Given the description of an element on the screen output the (x, y) to click on. 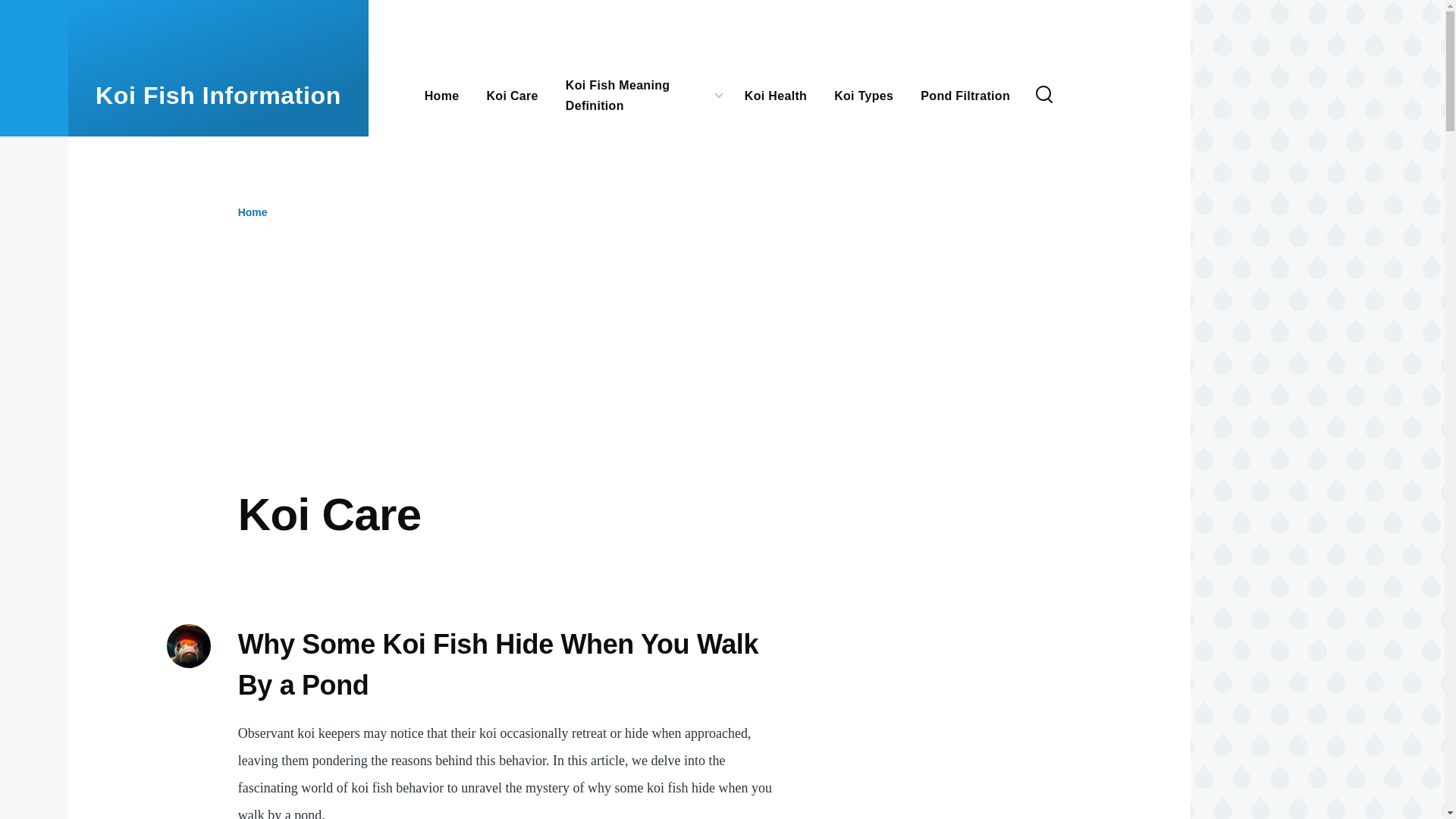
Koi Fish Meaning Definition (638, 95)
Home (218, 94)
Pond Filtration (965, 94)
Skip to main content (595, 6)
Koi Fish Information (218, 94)
Home (252, 212)
Why Some Koi Fish Hide When You Walk By a Pond (498, 665)
